Given the description of an element on the screen output the (x, y) to click on. 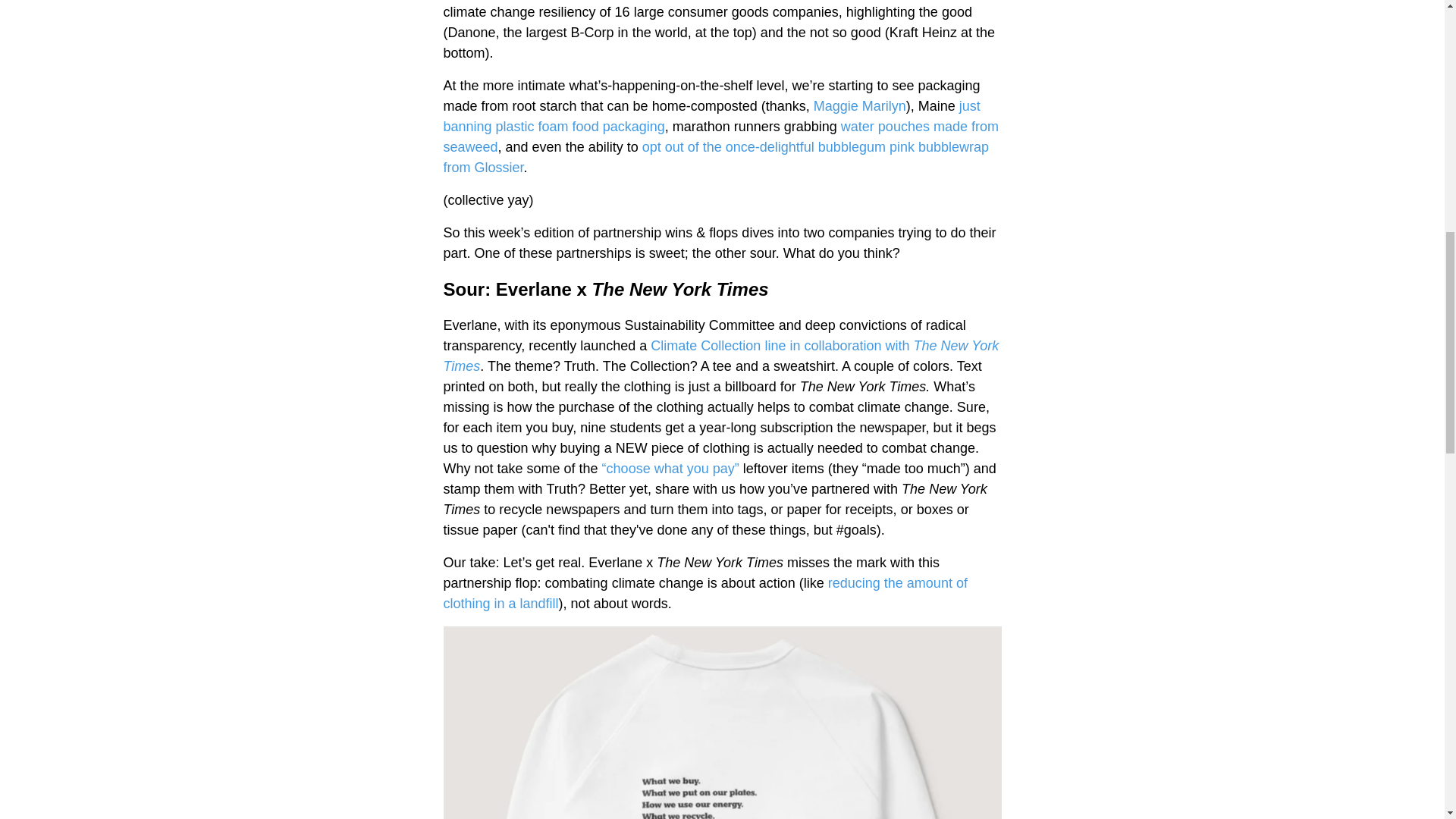
just banning plastic foam food packaging (710, 116)
water pouches made from seaweed (719, 136)
reducing the amount of clothing in a landfill (704, 592)
Maggie Marilyn (859, 105)
